Given the description of an element on the screen output the (x, y) to click on. 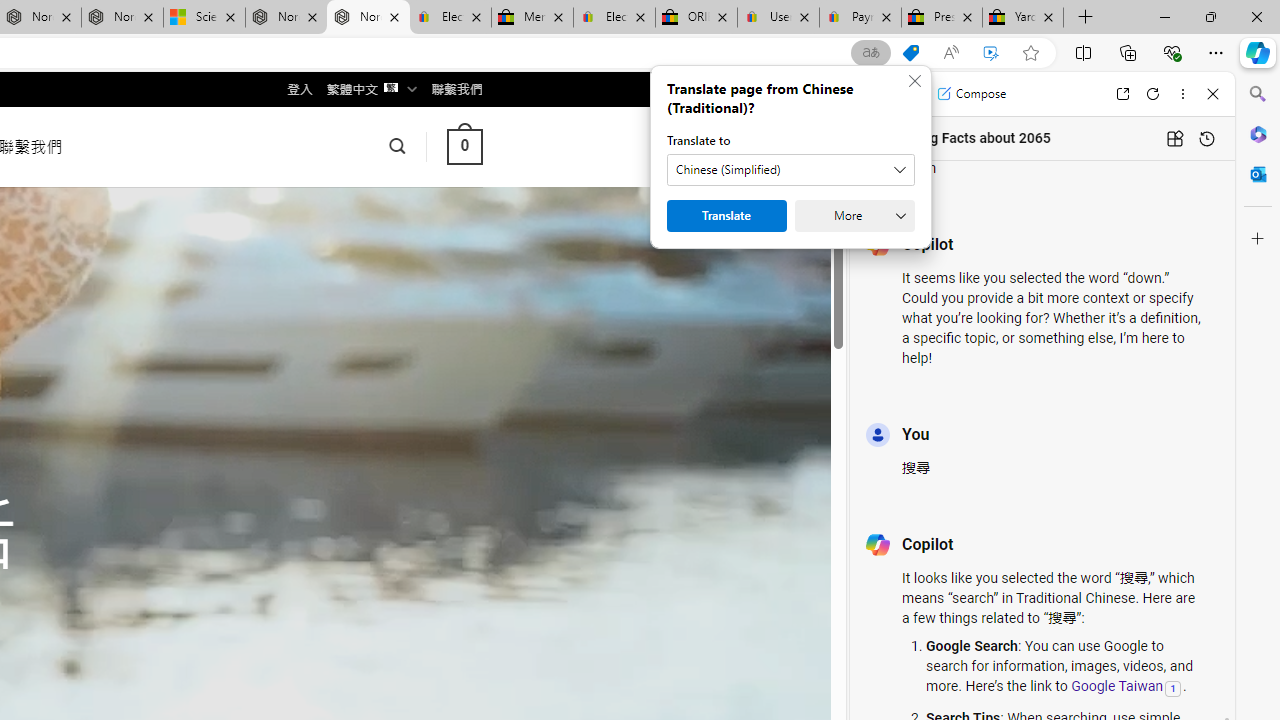
Nordace - Summer Adventures 2024 (285, 17)
